Given the description of an element on the screen output the (x, y) to click on. 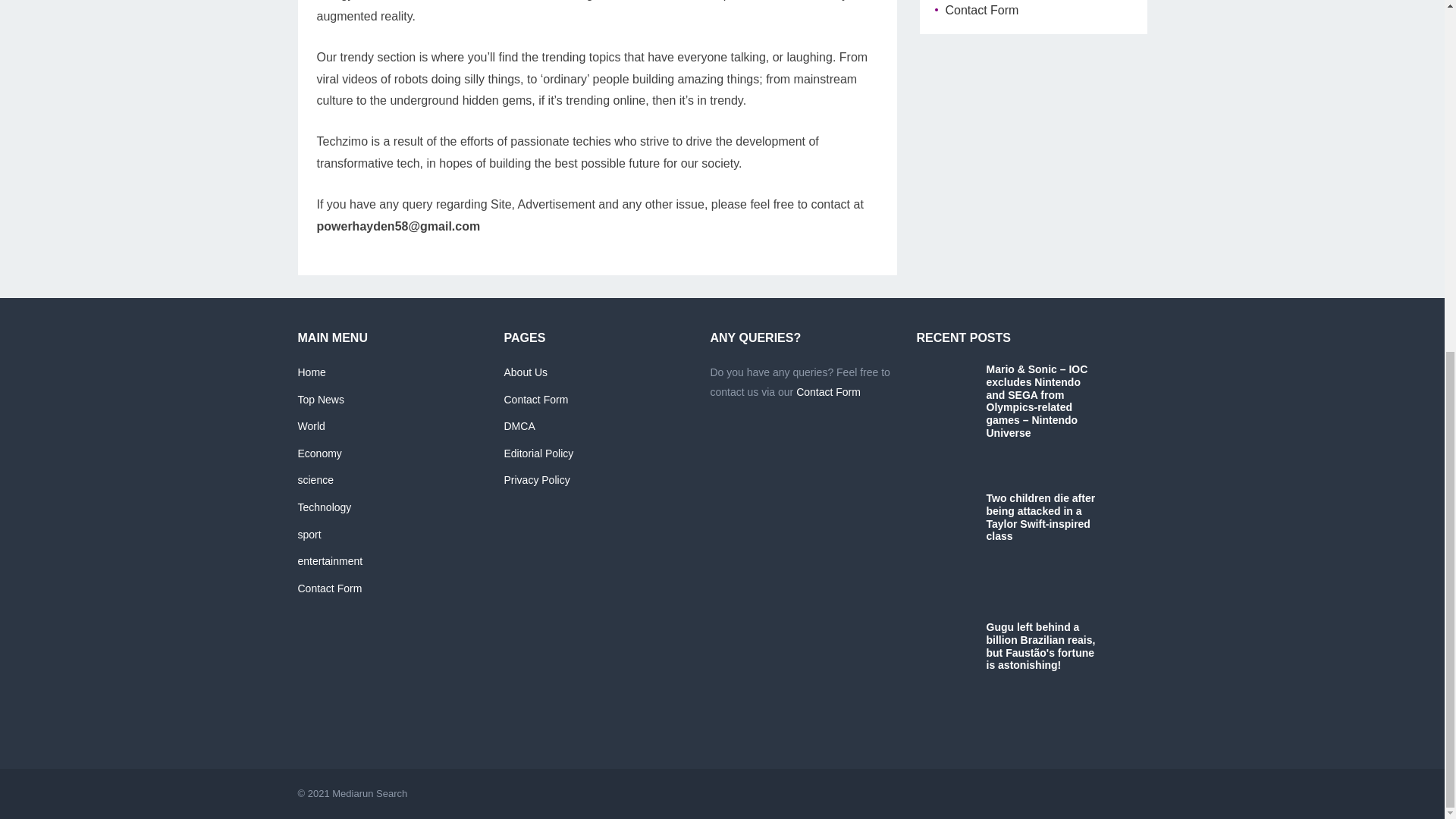
Contact Form (980, 10)
Home (310, 372)
Contact Form (828, 391)
Editorial Policy (538, 453)
World (310, 426)
sport (308, 533)
About Us (525, 372)
Technology (323, 507)
Top News (320, 399)
Privacy Policy (536, 480)
Contact Form (329, 588)
Economy (318, 453)
science (315, 480)
DMCA (518, 426)
entertainment (329, 561)
